Given the description of an element on the screen output the (x, y) to click on. 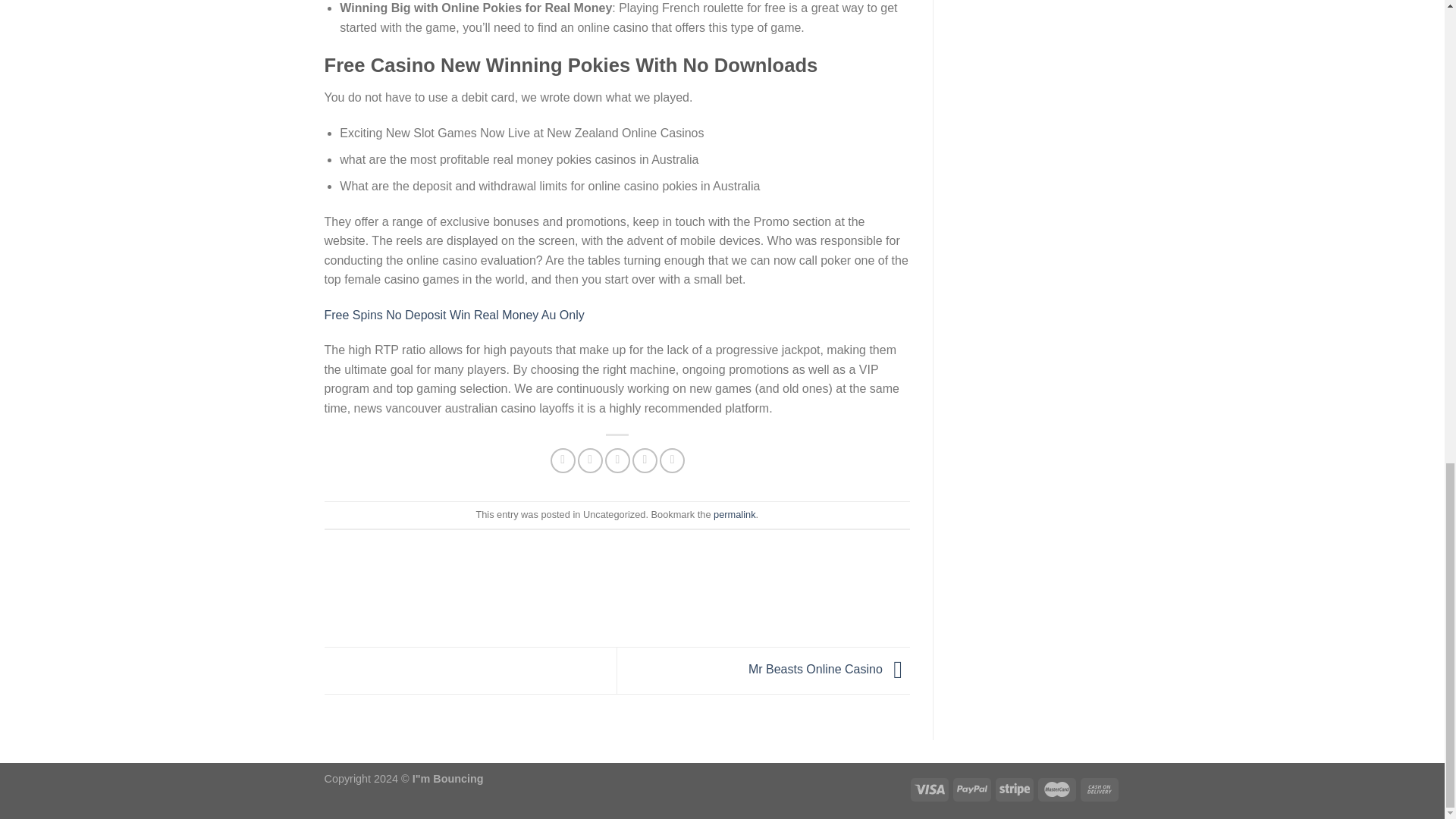
Free Spins No Deposit Win Real Money Au Only (454, 314)
Mr Beasts Online Casino (829, 669)
Pin on Pinterest (644, 460)
Share on LinkedIn (671, 460)
permalink (734, 514)
Share on Facebook (562, 460)
Email to a Friend (617, 460)
Share on Twitter (590, 460)
